Given the description of an element on the screen output the (x, y) to click on. 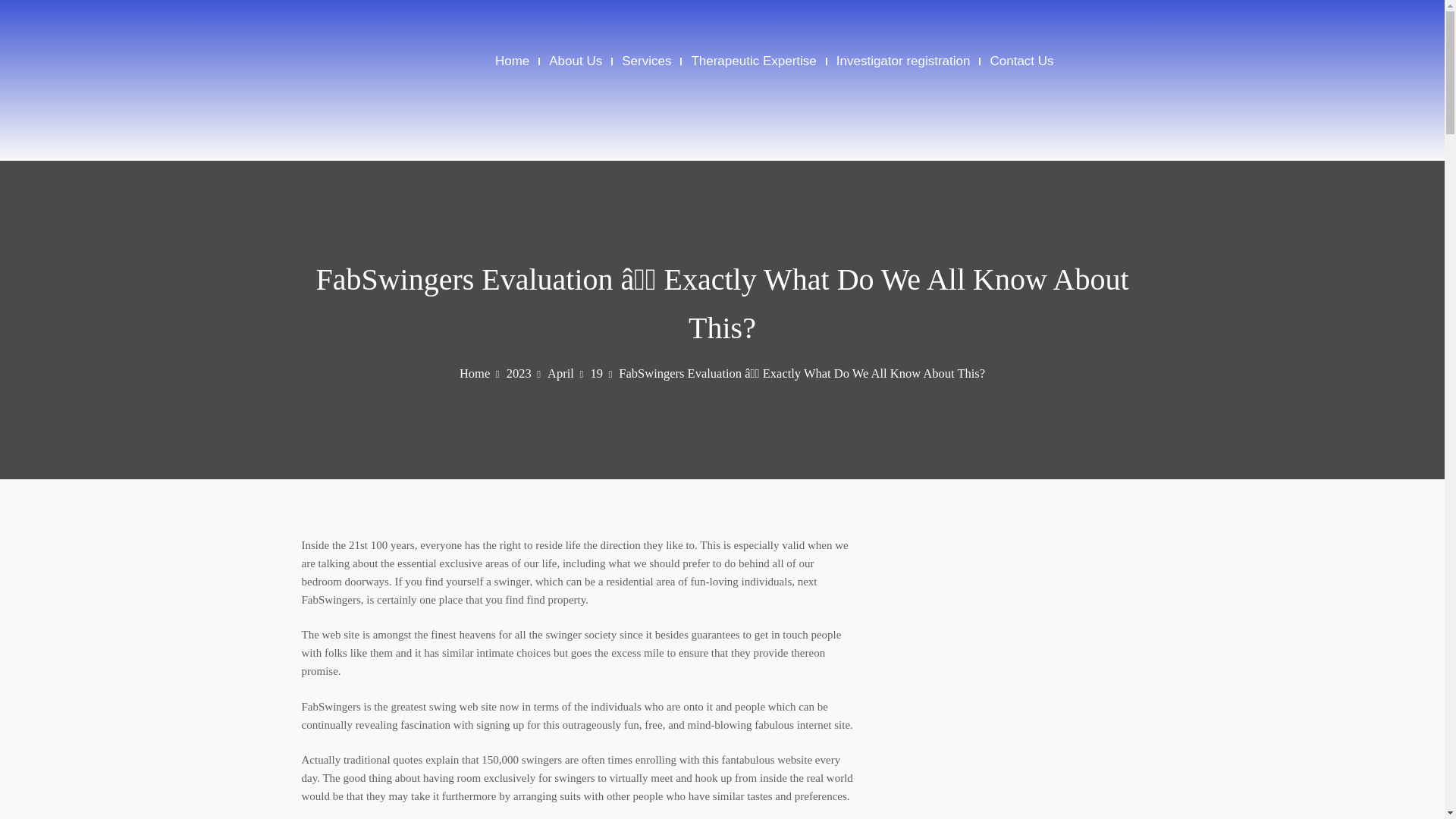
About Us (575, 60)
Services (646, 60)
Investigator registration (903, 60)
Therapeutic Expertise (752, 60)
Home (512, 60)
Home (479, 373)
Contact Us (1021, 60)
2023 (523, 373)
April (565, 373)
19 (600, 373)
